Given the description of an element on the screen output the (x, y) to click on. 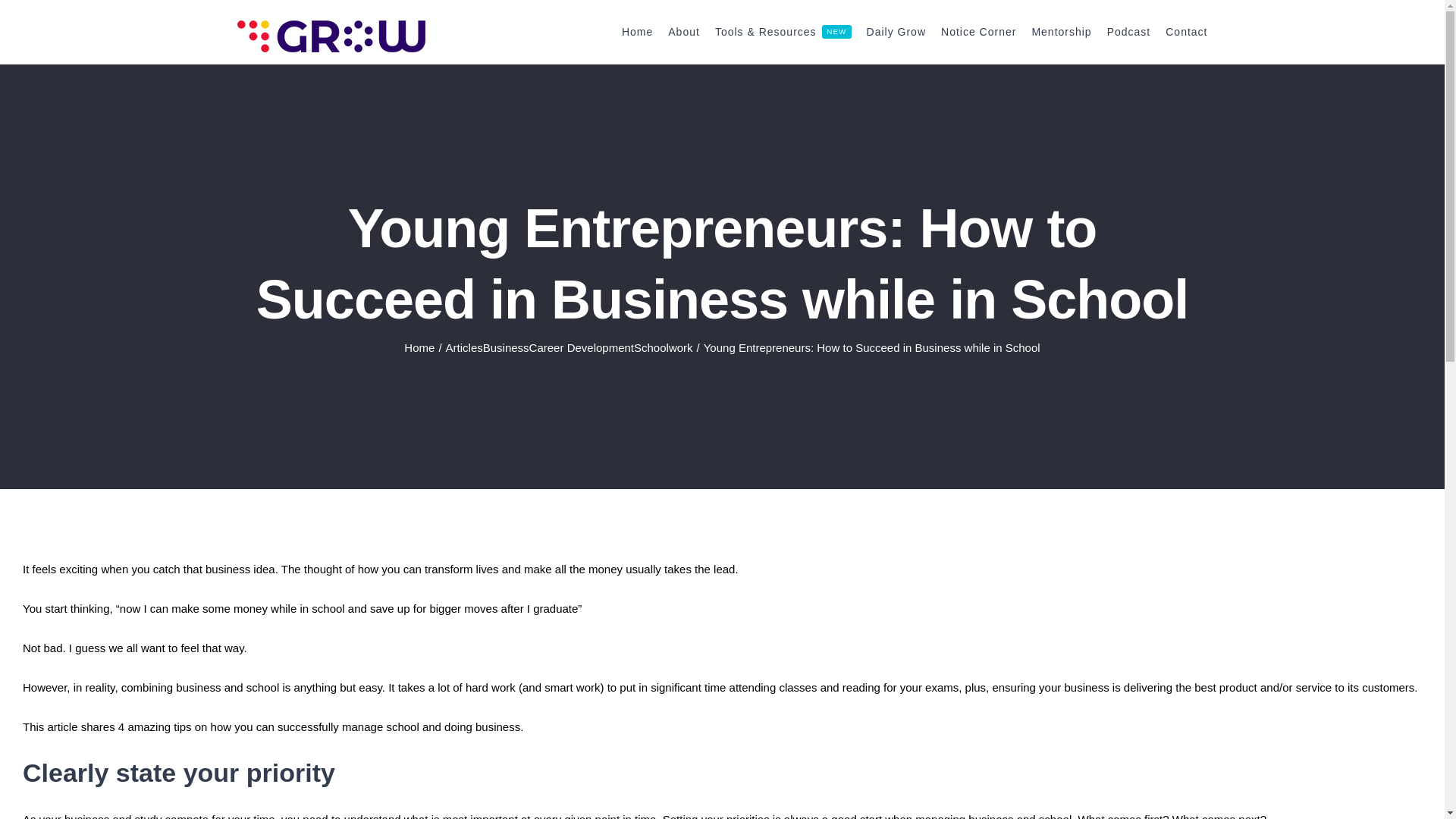
Home (418, 347)
work (680, 347)
Mentorship (1060, 31)
Articles (464, 347)
Career Development (581, 347)
Notice Corner (978, 31)
Business (506, 347)
School (650, 347)
Daily Grow (896, 31)
